Given the description of an element on the screen output the (x, y) to click on. 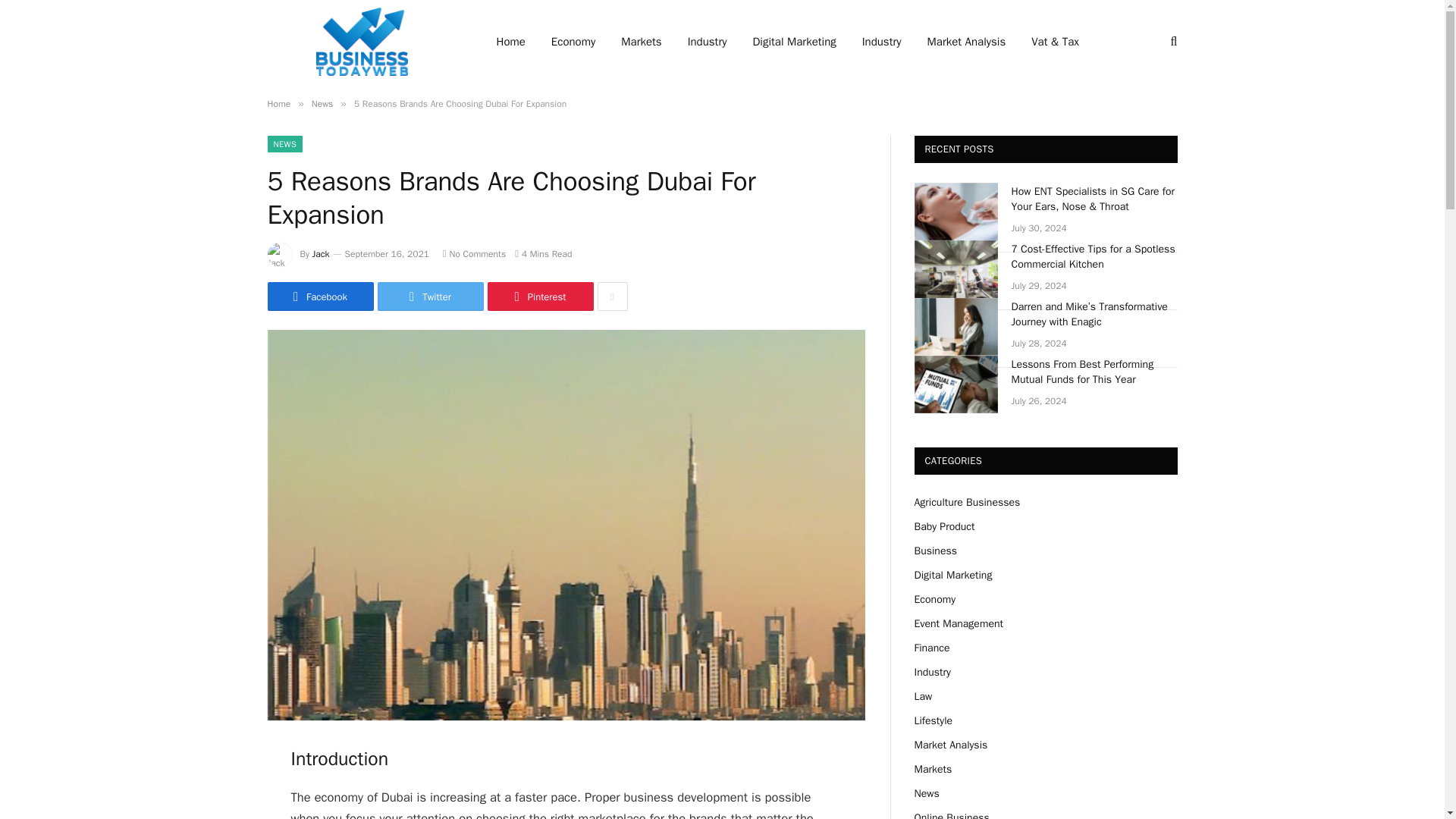
Pinterest (539, 296)
Jack (321, 254)
NEWS (284, 143)
Businesstodayweb (361, 41)
Twitter (430, 296)
Digital Marketing (793, 41)
Home (277, 103)
Facebook (319, 296)
Show More Social Sharing (611, 296)
Posts by Jack (321, 254)
No Comments (473, 254)
Share on Facebook (319, 296)
Share on Pinterest (539, 296)
News (322, 103)
